Given the description of an element on the screen output the (x, y) to click on. 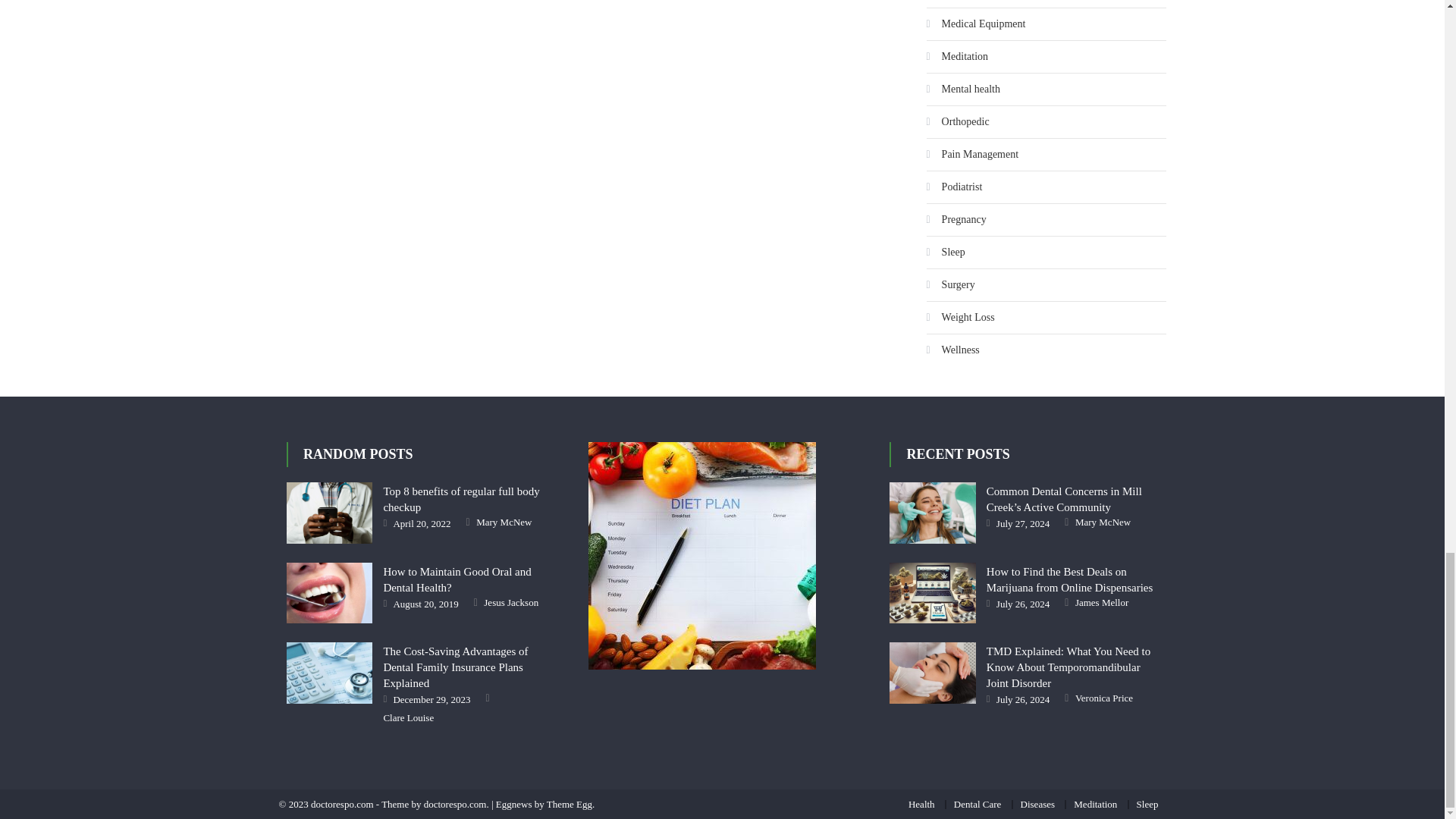
How to Maintain Good Oral and Dental Health? (329, 593)
Top 8 benefits of regular full body checkup (329, 512)
